Given the description of an element on the screen output the (x, y) to click on. 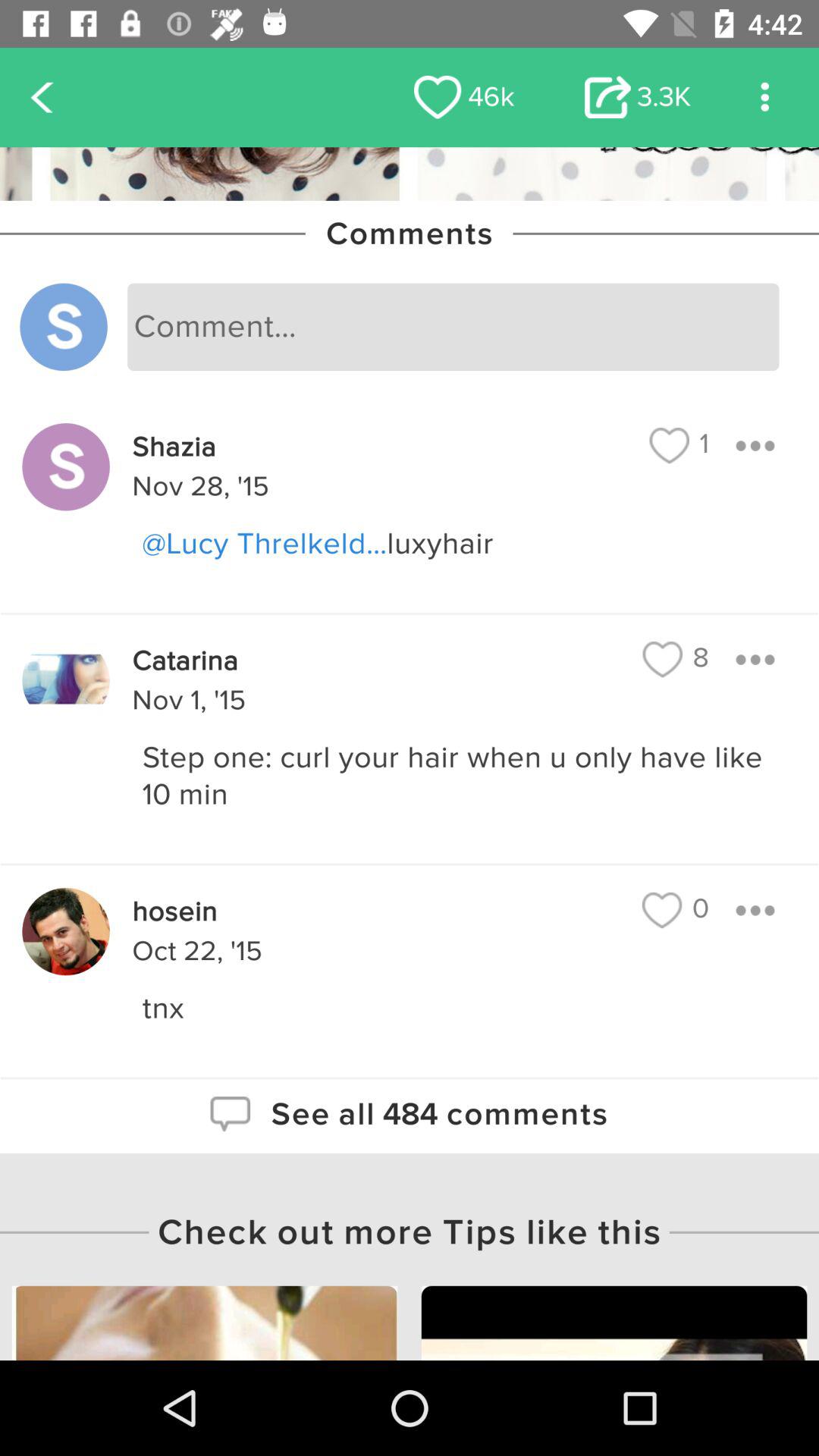
comment text box (453, 326)
